Given the description of an element on the screen output the (x, y) to click on. 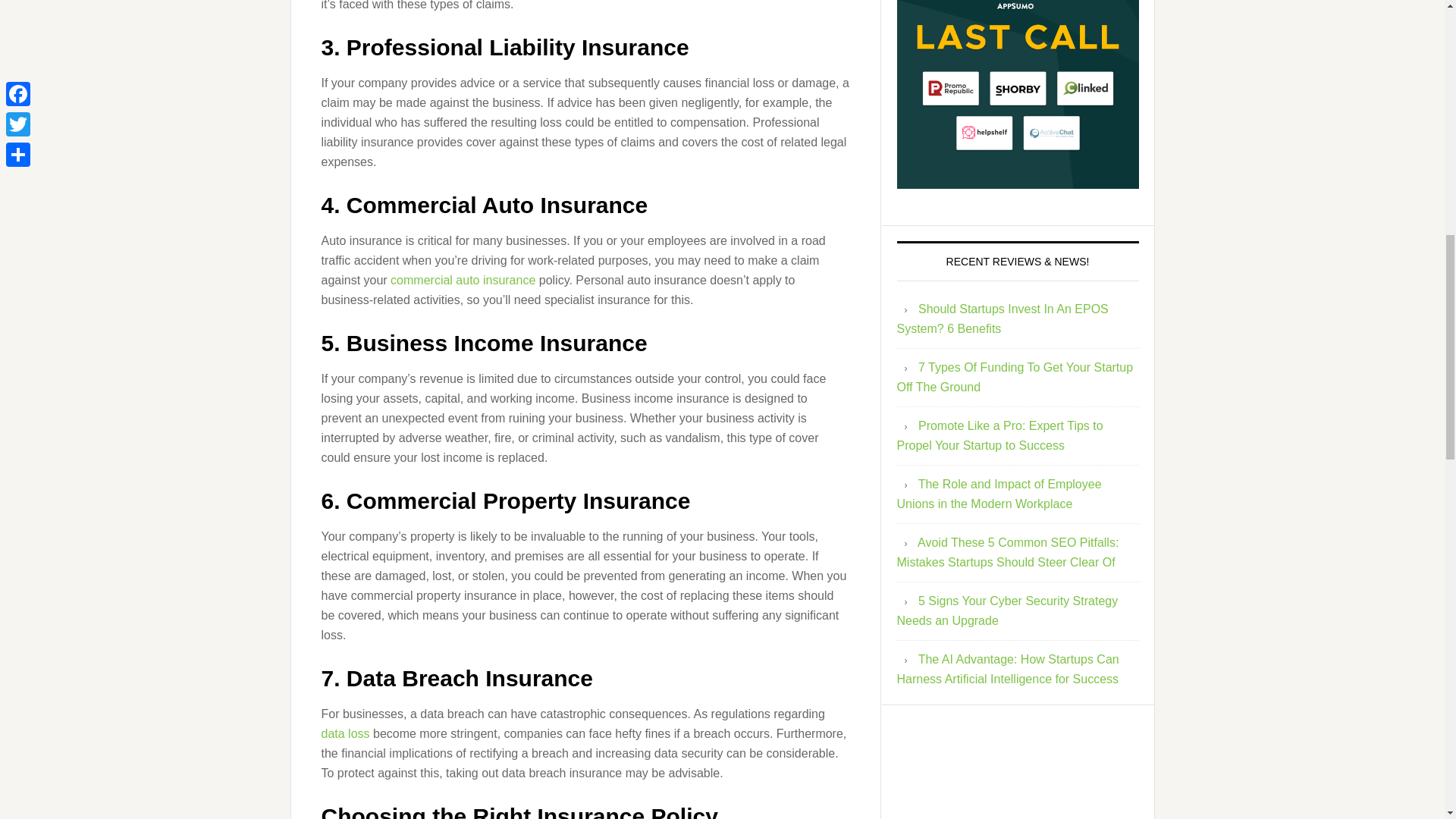
5 Signs Your Cyber Security Strategy Needs an Upgrade (1007, 610)
data loss (345, 732)
commercial auto insurance (462, 278)
7 Types Of Funding To Get Your Startup Off The Ground (1014, 377)
Should Startups Invest In An EPOS System? 6 Benefits (1002, 318)
